Given the description of an element on the screen output the (x, y) to click on. 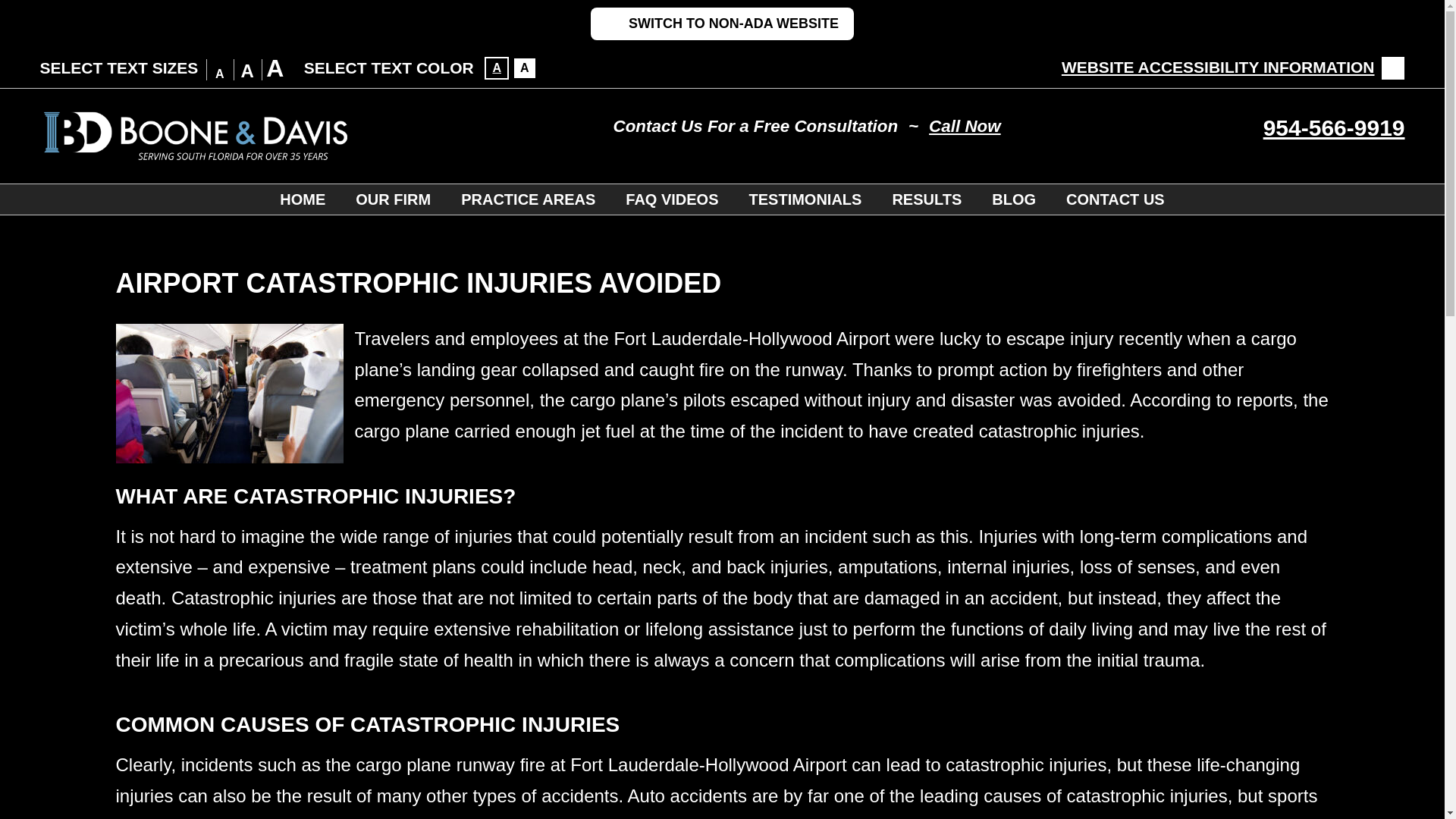
Invert Colors (524, 67)
Click to view external accessibility article (1233, 67)
A (524, 67)
Invert Colors (496, 67)
A (496, 67)
PRACTICE AREAS (527, 199)
OUR FIRM (392, 199)
SWITCH TO NON-ADA WEBSITE (722, 23)
Call Now (964, 126)
WEBSITE ACCESSIBILITY INFORMATION (1233, 67)
